Given the description of an element on the screen output the (x, y) to click on. 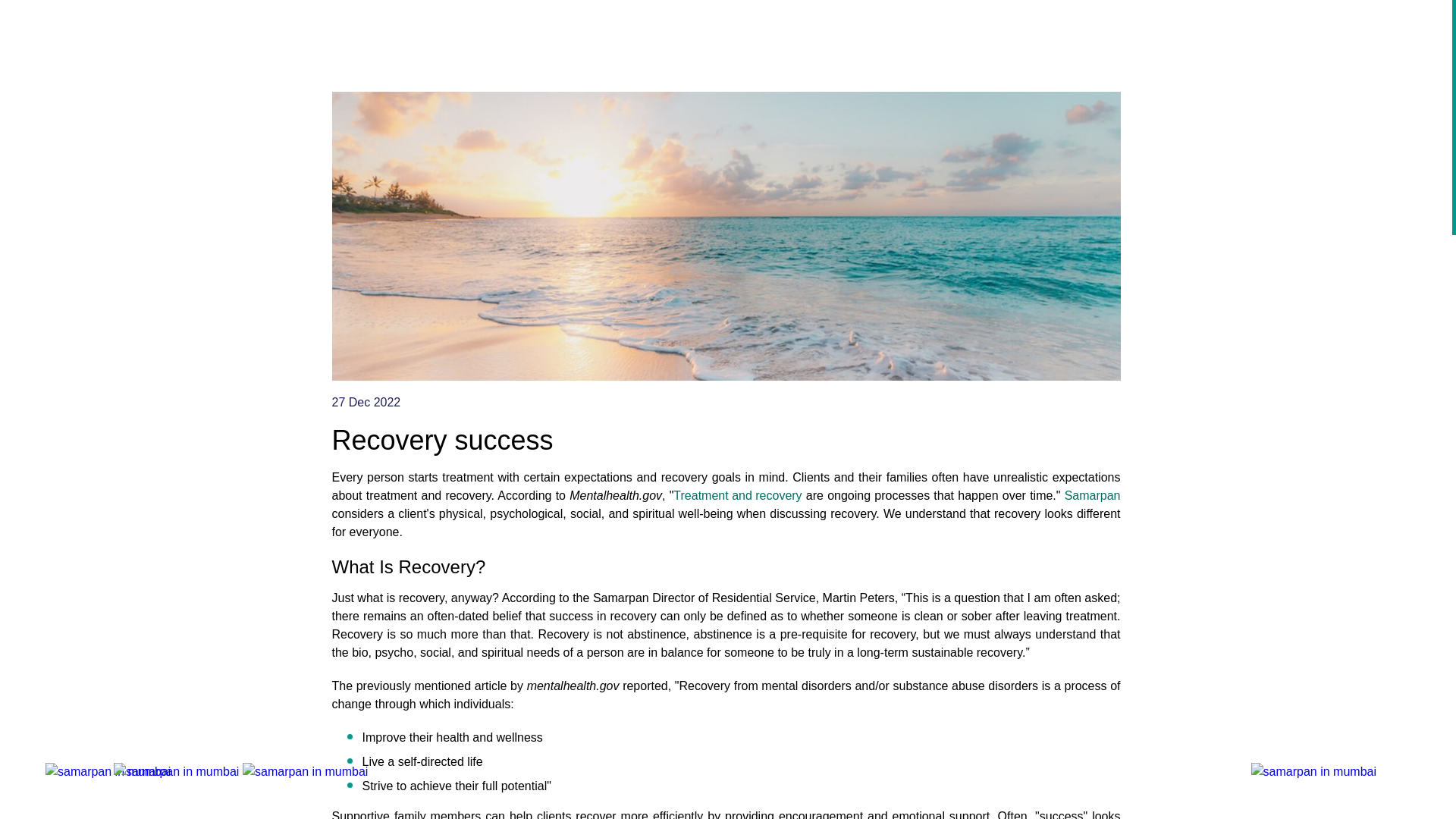
Get In Touch (1177, 30)
Our Approach (1069, 30)
What We Treat (954, 30)
Treatment and recovery (737, 495)
Samarpan (1092, 495)
Who We Are (844, 30)
